Given the description of an element on the screen output the (x, y) to click on. 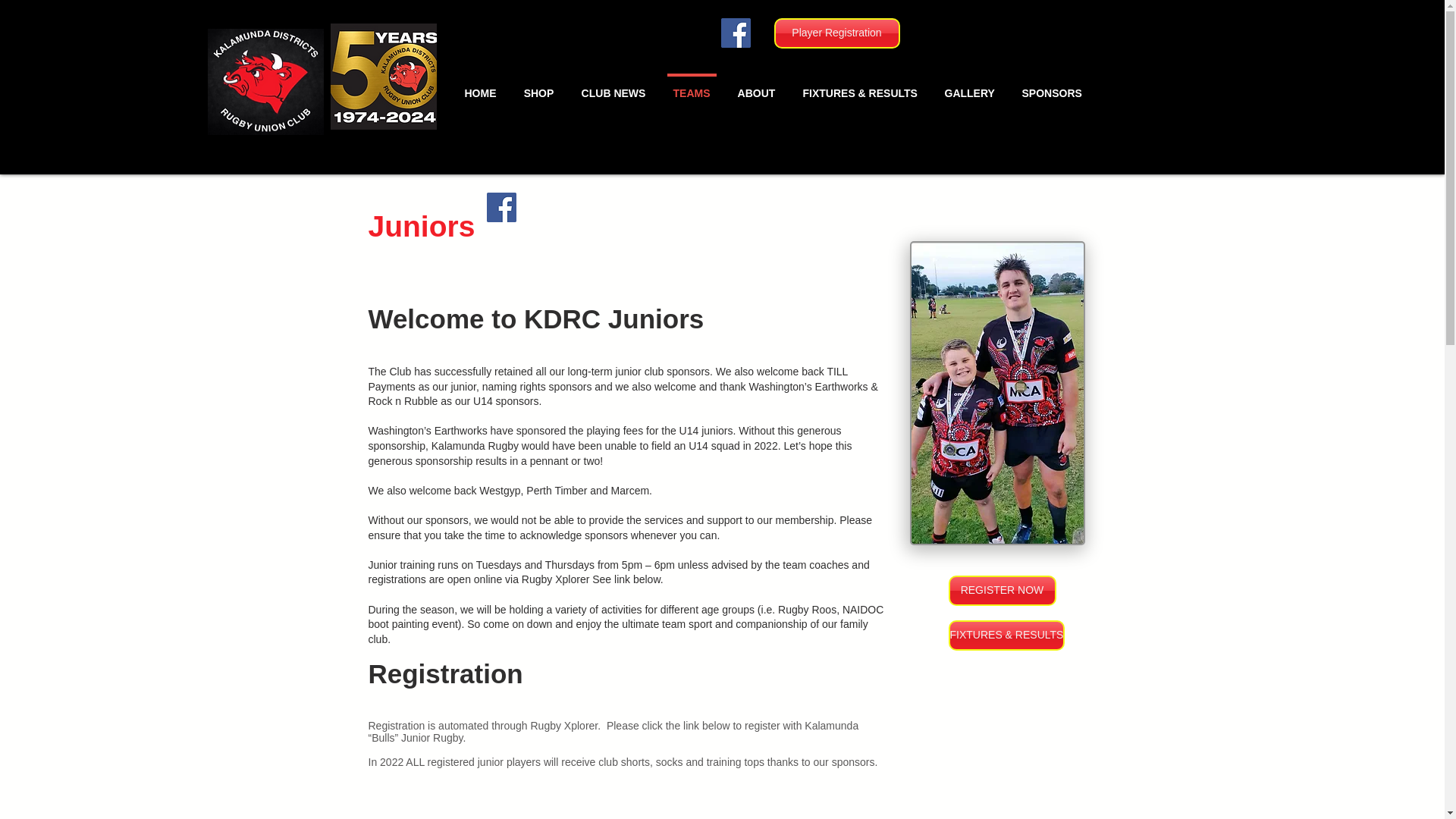
ABOUT (756, 86)
Player Registration (836, 33)
GALLERY (970, 86)
TEAMS (691, 86)
HOME (479, 86)
REGISTER NOW (1001, 590)
SHOP (538, 86)
CLUB NEWS (613, 86)
SPONSORS (1052, 86)
